Given the description of an element on the screen output the (x, y) to click on. 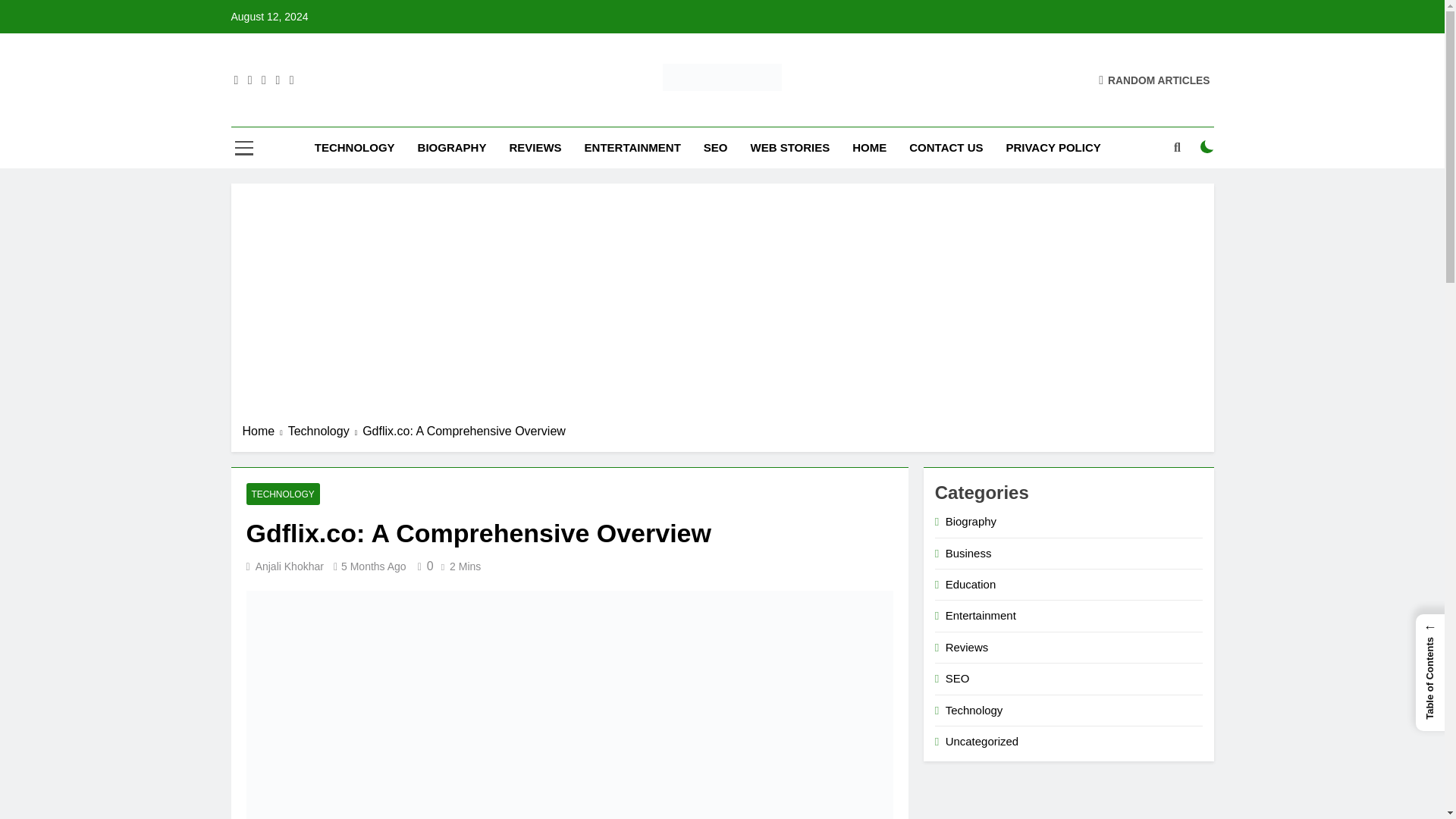
Home (265, 431)
SEO (716, 147)
Technology (325, 431)
Anjali Khokhar (289, 566)
WEB STORIES (789, 147)
TECHNOLOGY (282, 494)
5 Months Ago (373, 566)
HOME (869, 147)
REVIEWS (534, 147)
